Given the description of an element on the screen output the (x, y) to click on. 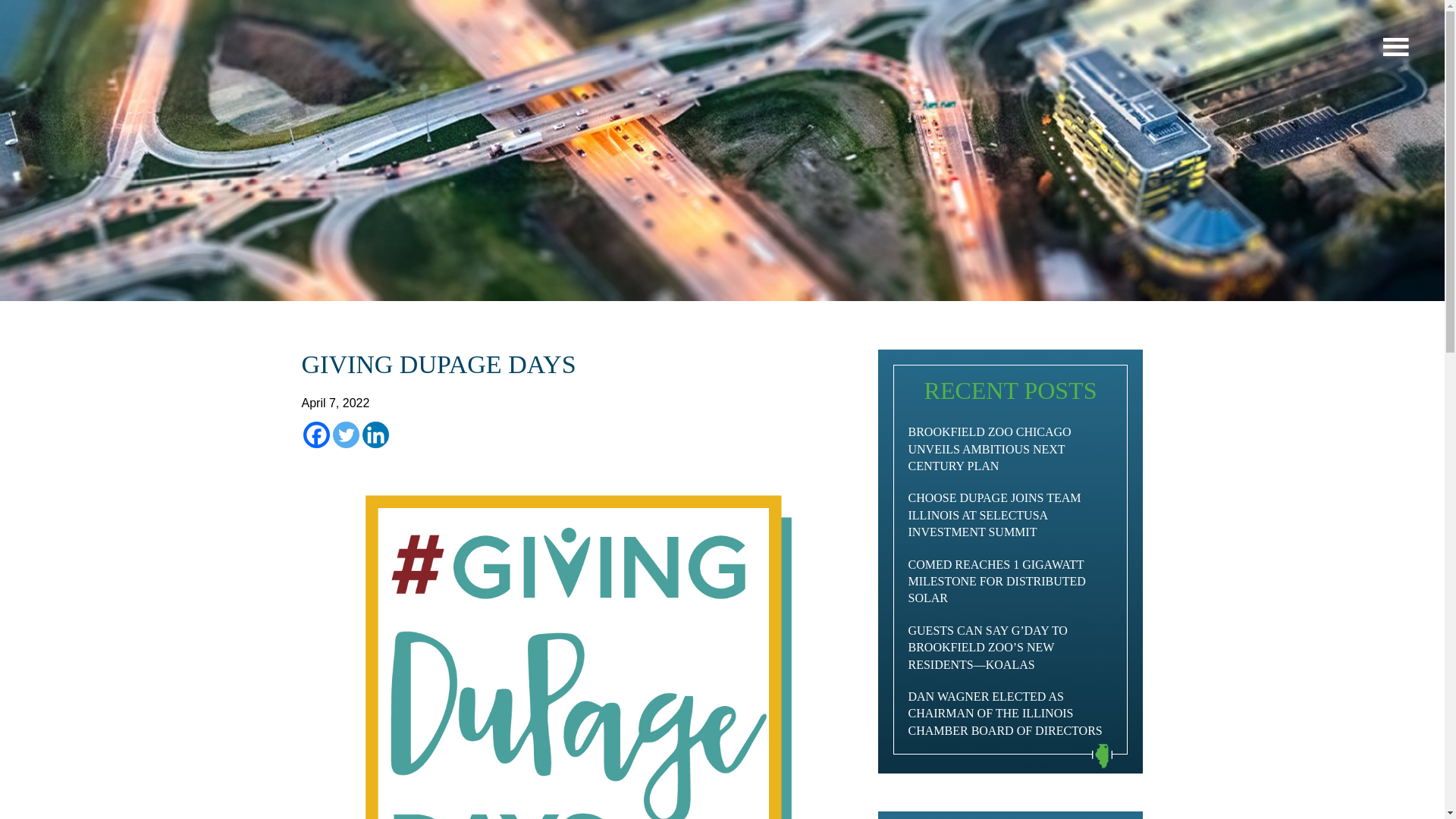
Twitter (344, 434)
Linkedin (375, 434)
Facebook (316, 434)
